Given the description of an element on the screen output the (x, y) to click on. 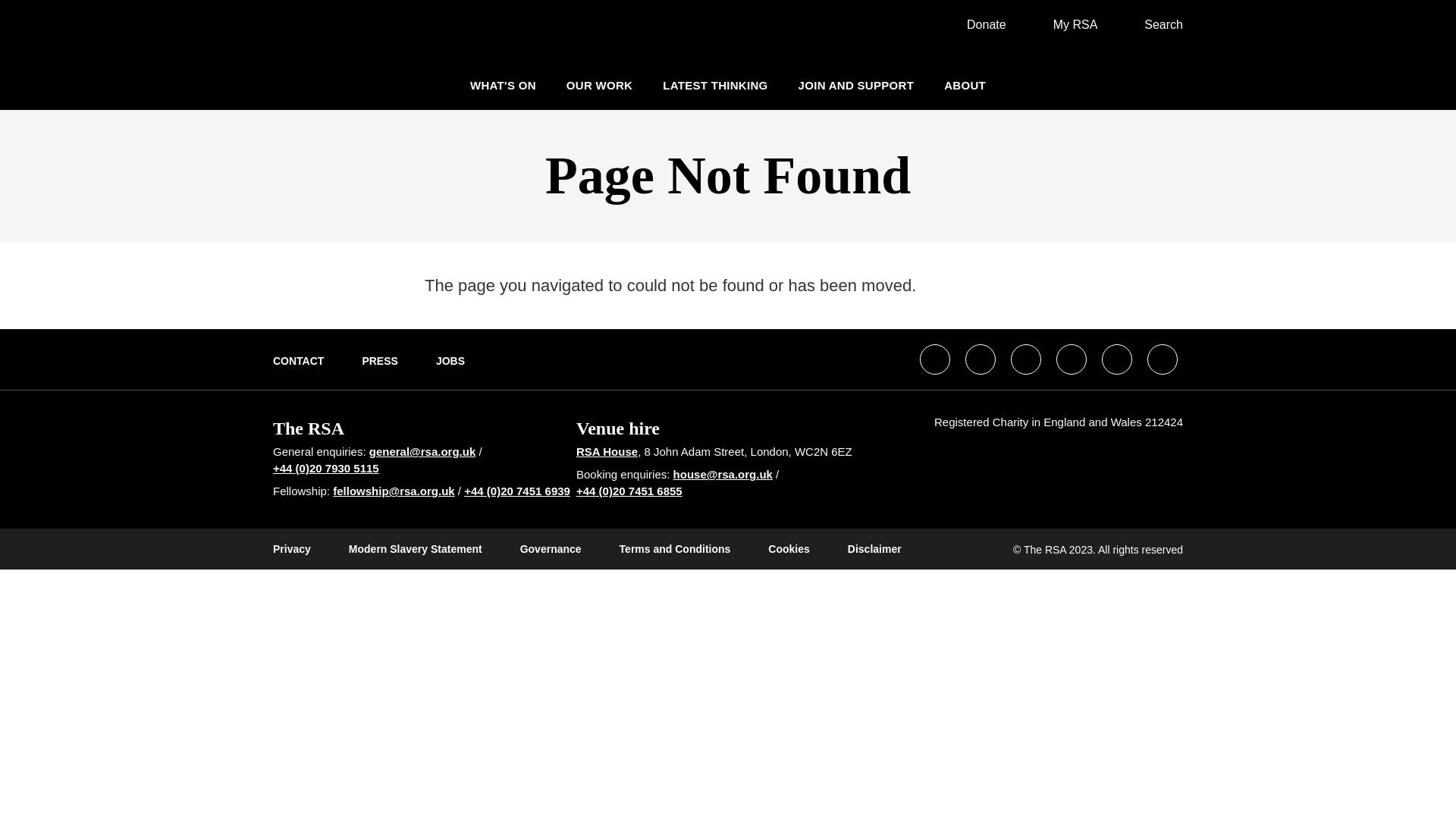
My RSA (1066, 24)
Donate (978, 24)
Search (1154, 24)
WHAT'S ON (502, 84)
OUR WORK (598, 84)
LATEST THINKING (714, 84)
